Given the description of an element on the screen output the (x, y) to click on. 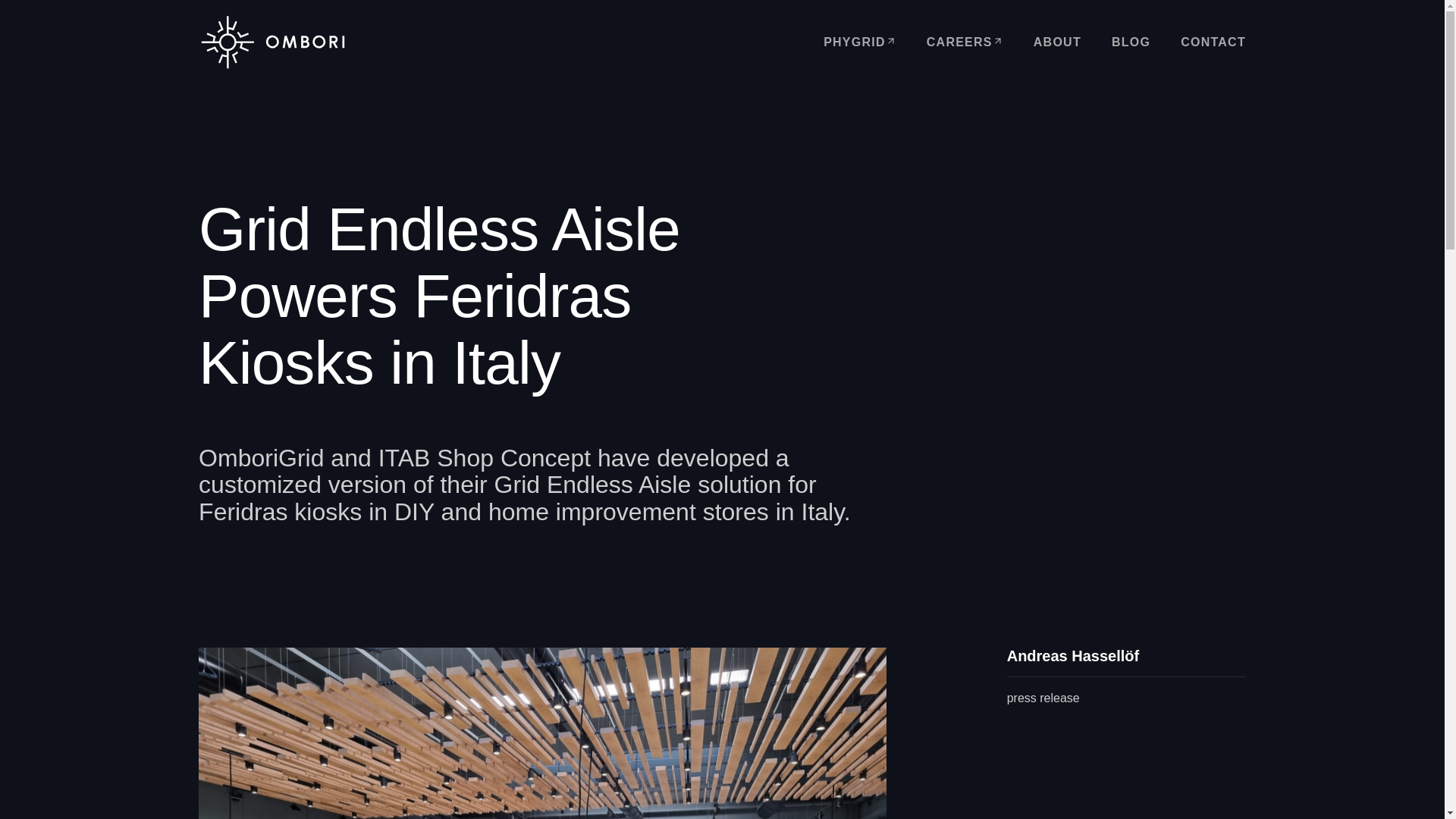
CONTACT (1213, 42)
BLOG (1131, 42)
CAREERS (964, 42)
press release (1043, 697)
ABOUT (1057, 42)
PHYGRID (860, 42)
